Given the description of an element on the screen output the (x, y) to click on. 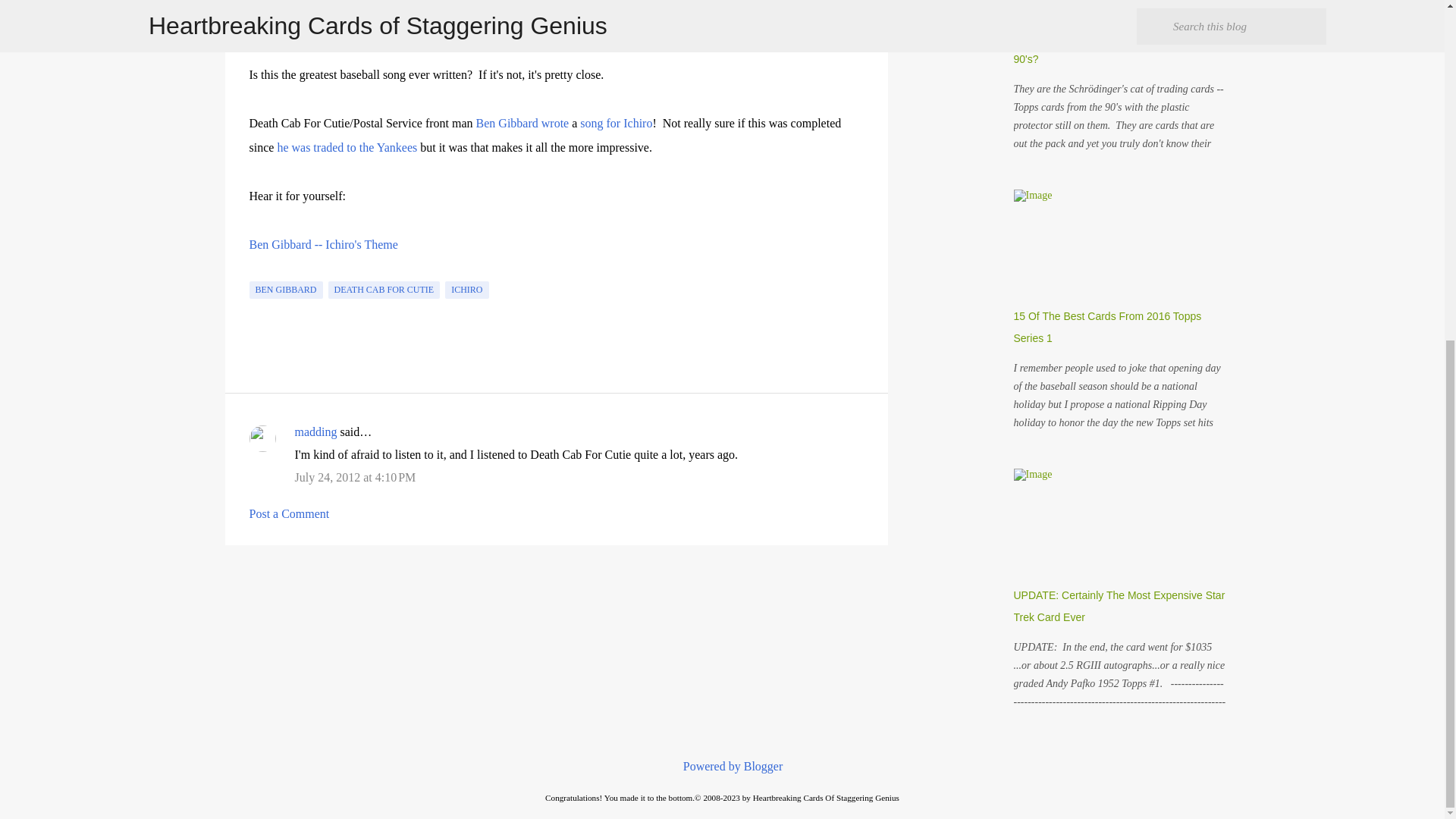
Powered by Blogger (722, 766)
UPDATE: Certainly The Most Expensive Star Trek Card Ever (1118, 605)
Post a Comment (288, 513)
madding (315, 431)
song for Ichiro (615, 123)
he was traded to the Yankees (346, 146)
Email Post (257, 271)
15 Of The Best Cards From 2016 Topps Series 1 (1107, 326)
Ben Gibbard -- Ichiro's Theme (322, 244)
